Given the description of an element on the screen output the (x, y) to click on. 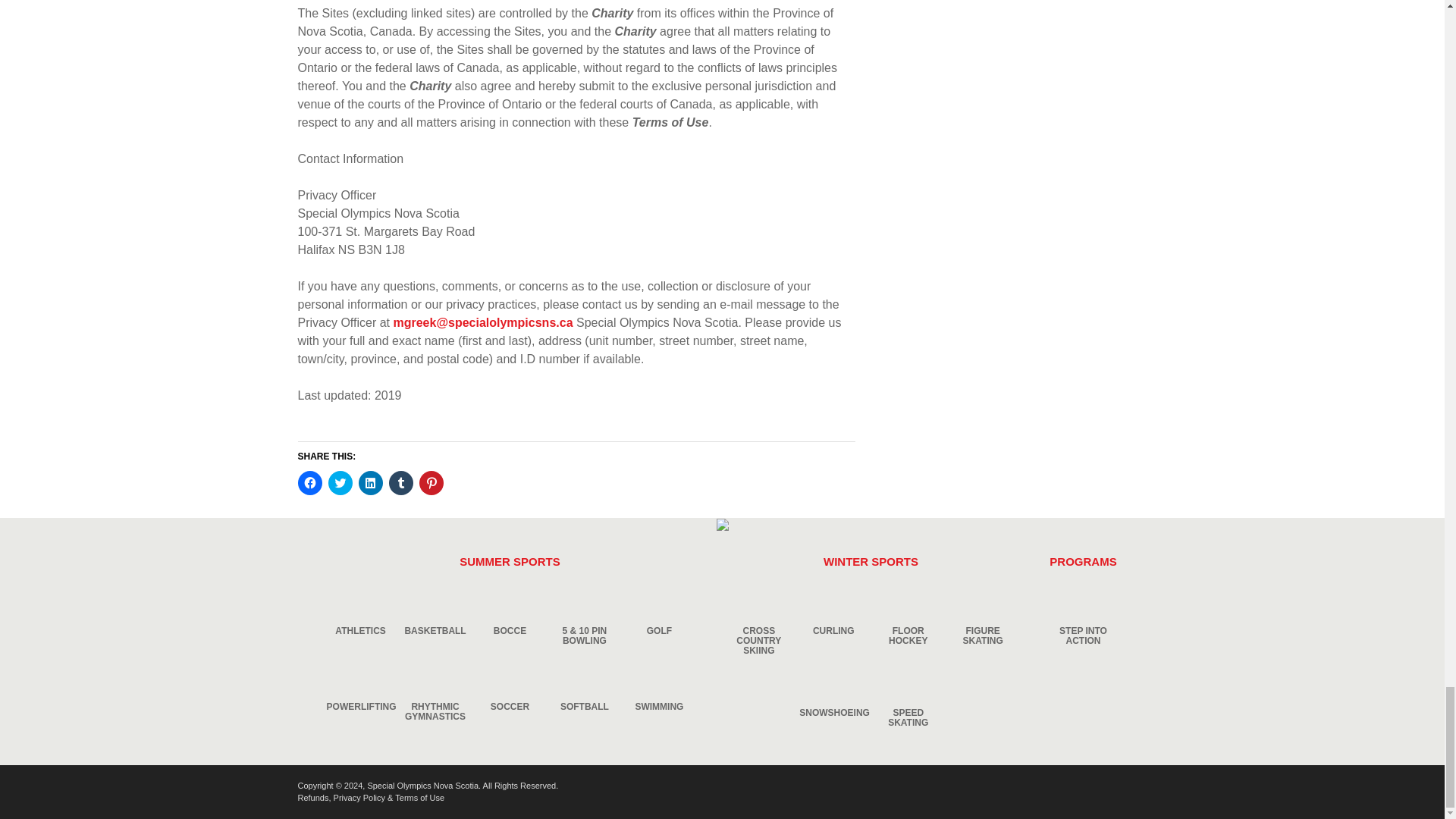
Click to share on Tumblr (400, 482)
Click to share on LinkedIn (369, 482)
Click to share on Pinterest (430, 482)
Click to share on Twitter (339, 482)
Click to share on Facebook (309, 482)
